Given the description of an element on the screen output the (x, y) to click on. 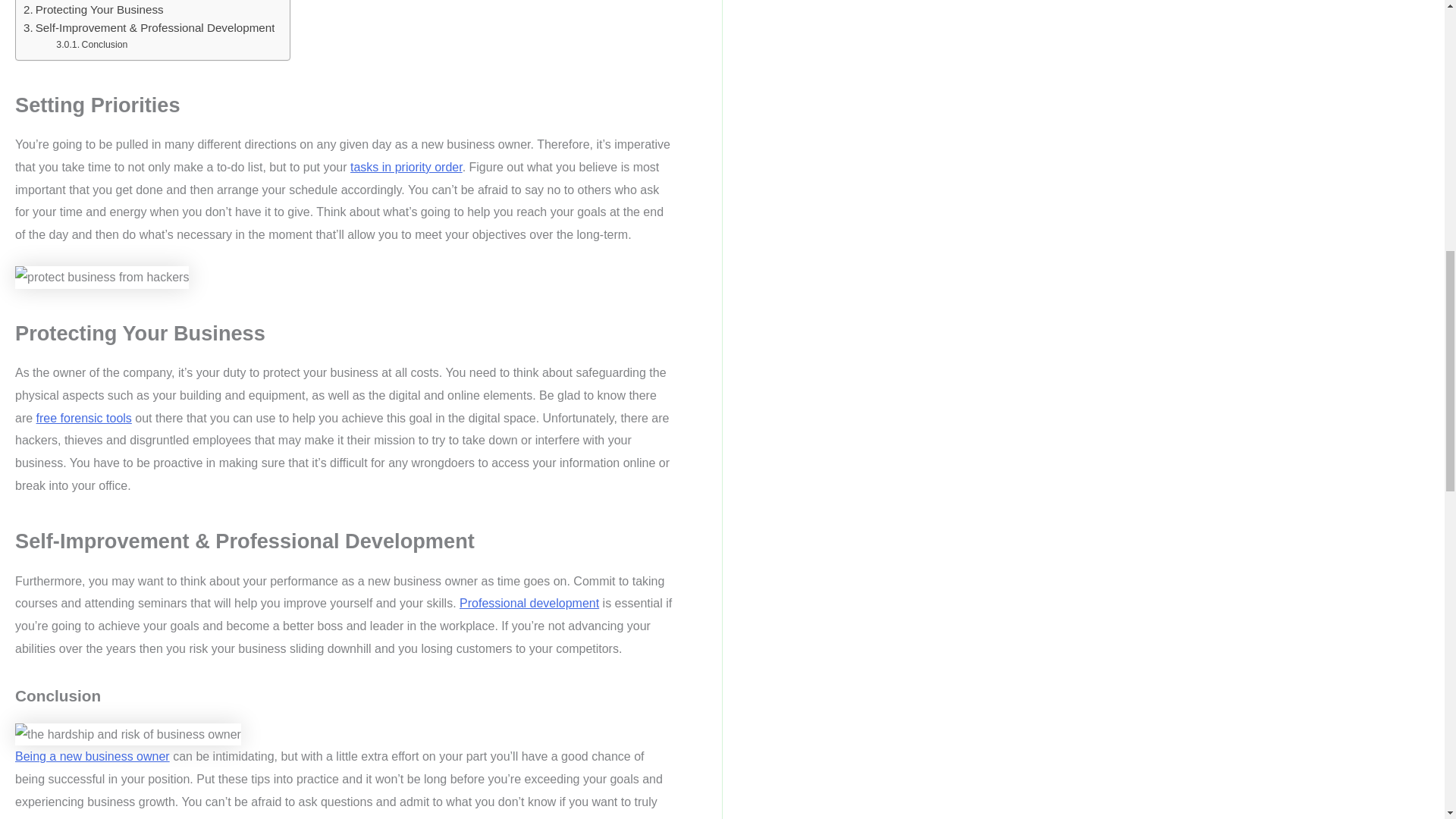
Being a new business owner (92, 756)
Conclusion (92, 45)
Protecting Your Business (93, 9)
tasks in priority order (406, 166)
Conclusion (92, 45)
Protecting Your Business (93, 9)
free forensic tools (84, 418)
Professional development (529, 603)
